Given the description of an element on the screen output the (x, y) to click on. 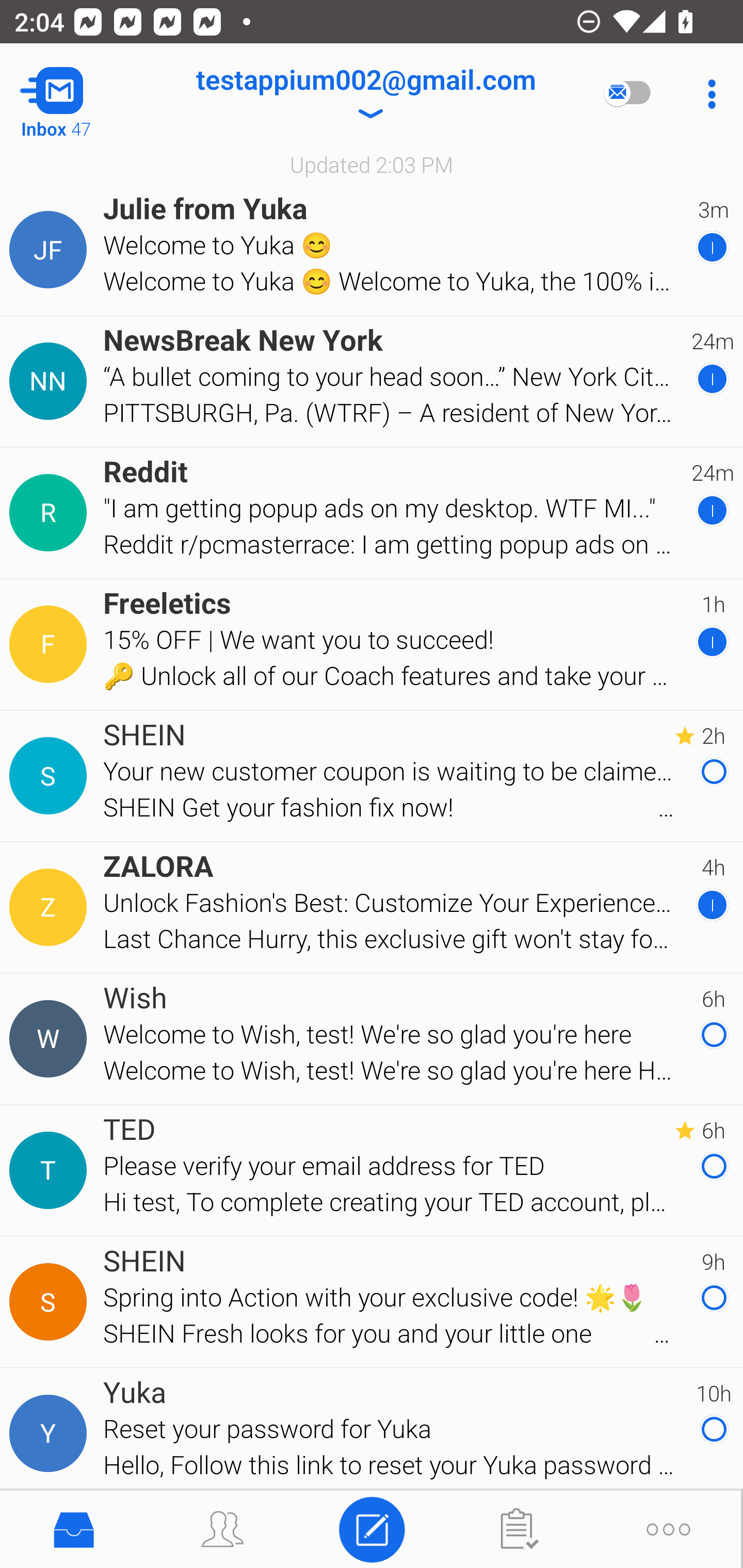
Navigate up (81, 93)
testappium002@gmail.com (365, 93)
More Options (706, 93)
Updated 2:03 PM (371, 164)
Contact Details (50, 250)
Contact Details (50, 381)
Contact Details (50, 513)
Contact Details (50, 644)
Contact Details (50, 776)
Contact Details (50, 907)
Contact Details (50, 1038)
Contact Details (50, 1170)
Contact Details (50, 1302)
Contact Details (50, 1433)
